Given the description of an element on the screen output the (x, y) to click on. 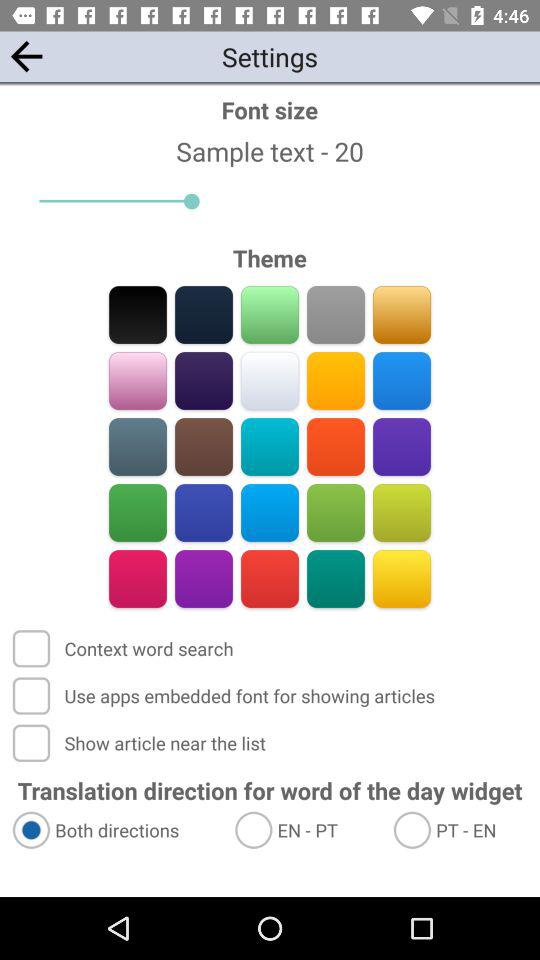
select dark green color (335, 578)
